Given the description of an element on the screen output the (x, y) to click on. 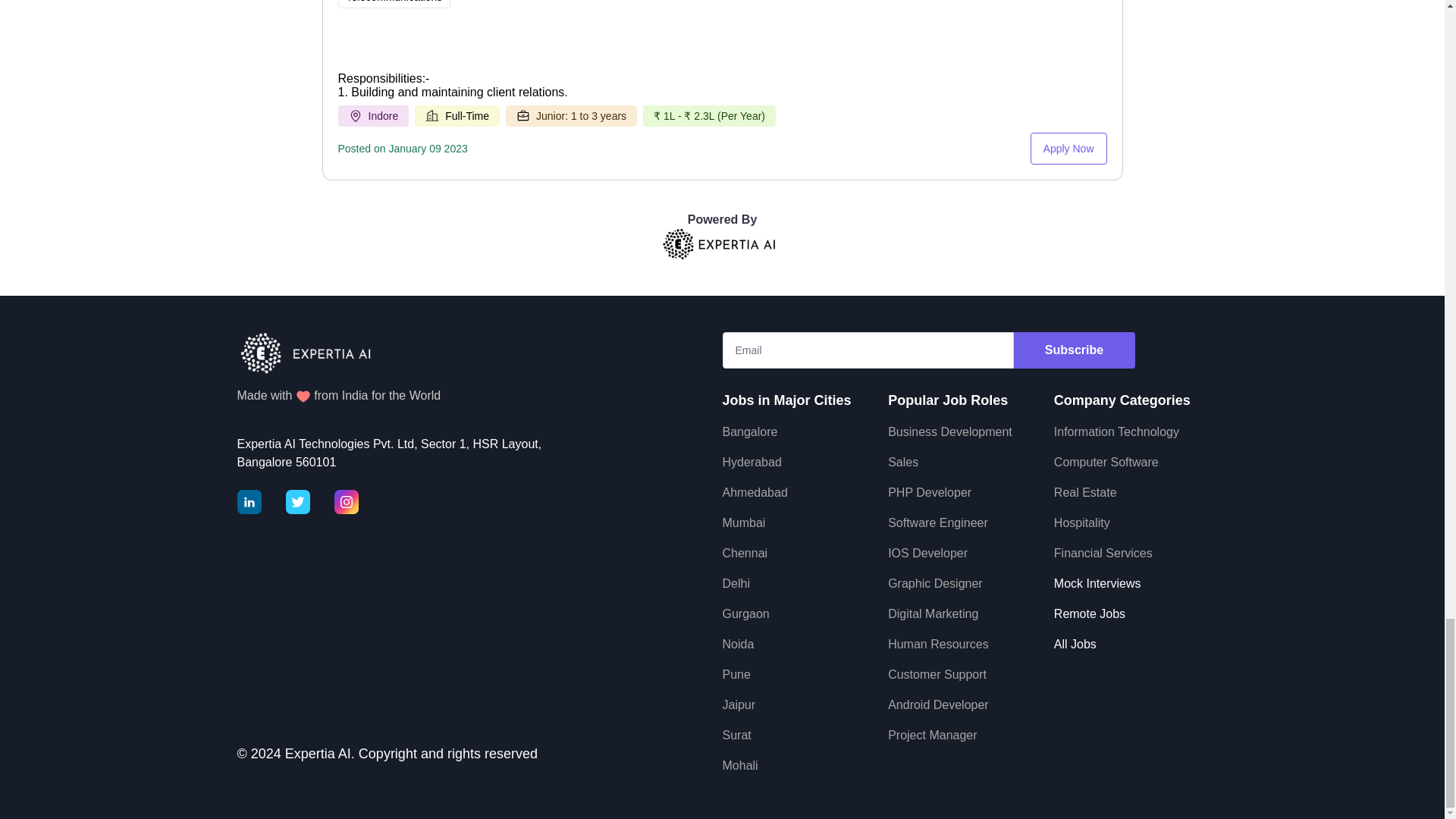
Business Development (949, 431)
PHP Developer (929, 492)
Surat (736, 735)
Sales (903, 461)
Hyderabad (751, 461)
Bangalore (749, 431)
Apply Now (1068, 148)
IOS Developer (928, 553)
Subscribe (1073, 350)
Gurgaon (745, 613)
